Given the description of an element on the screen output the (x, y) to click on. 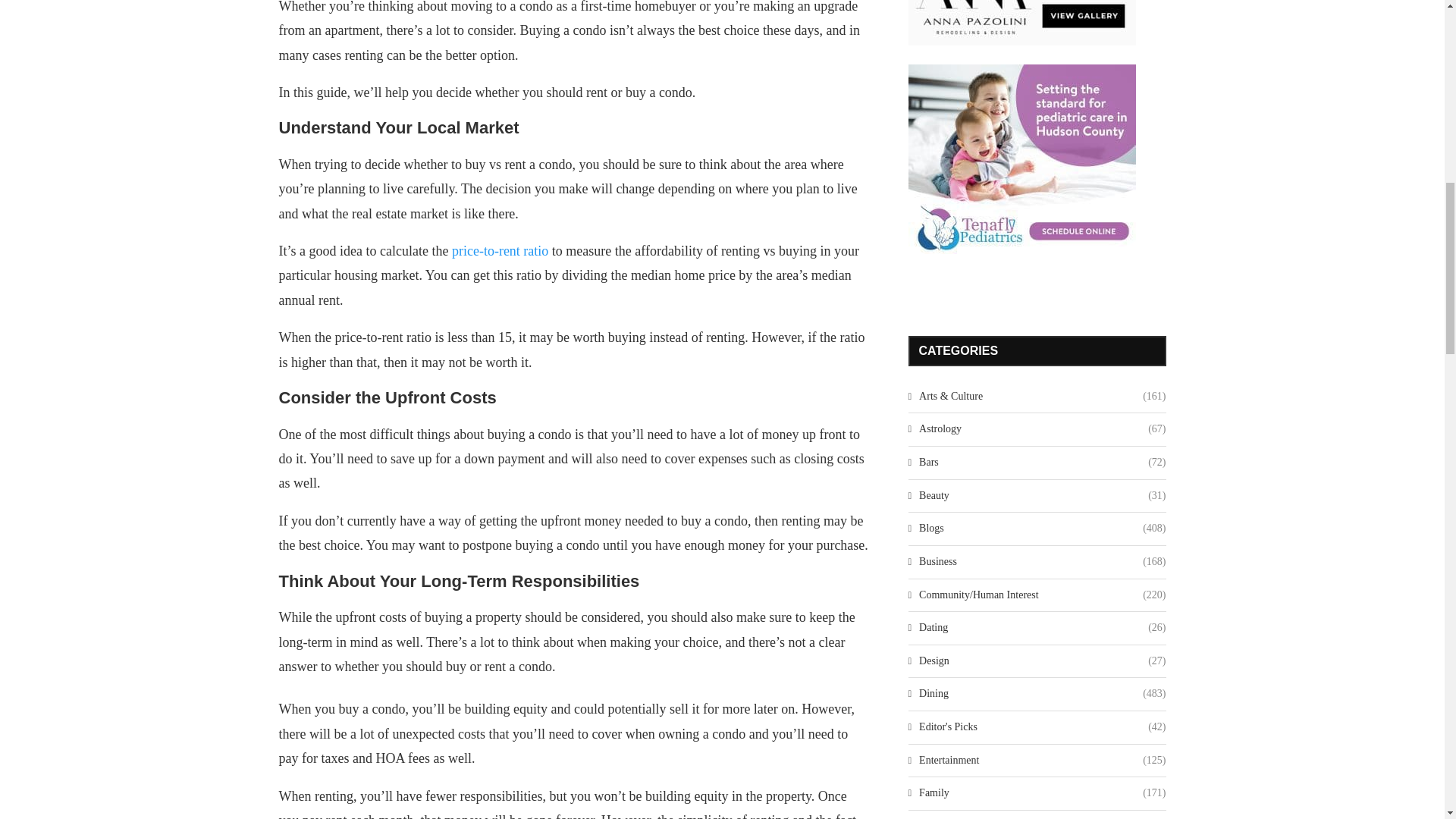
price-to-rent ratio (499, 250)
